Given the description of an element on the screen output the (x, y) to click on. 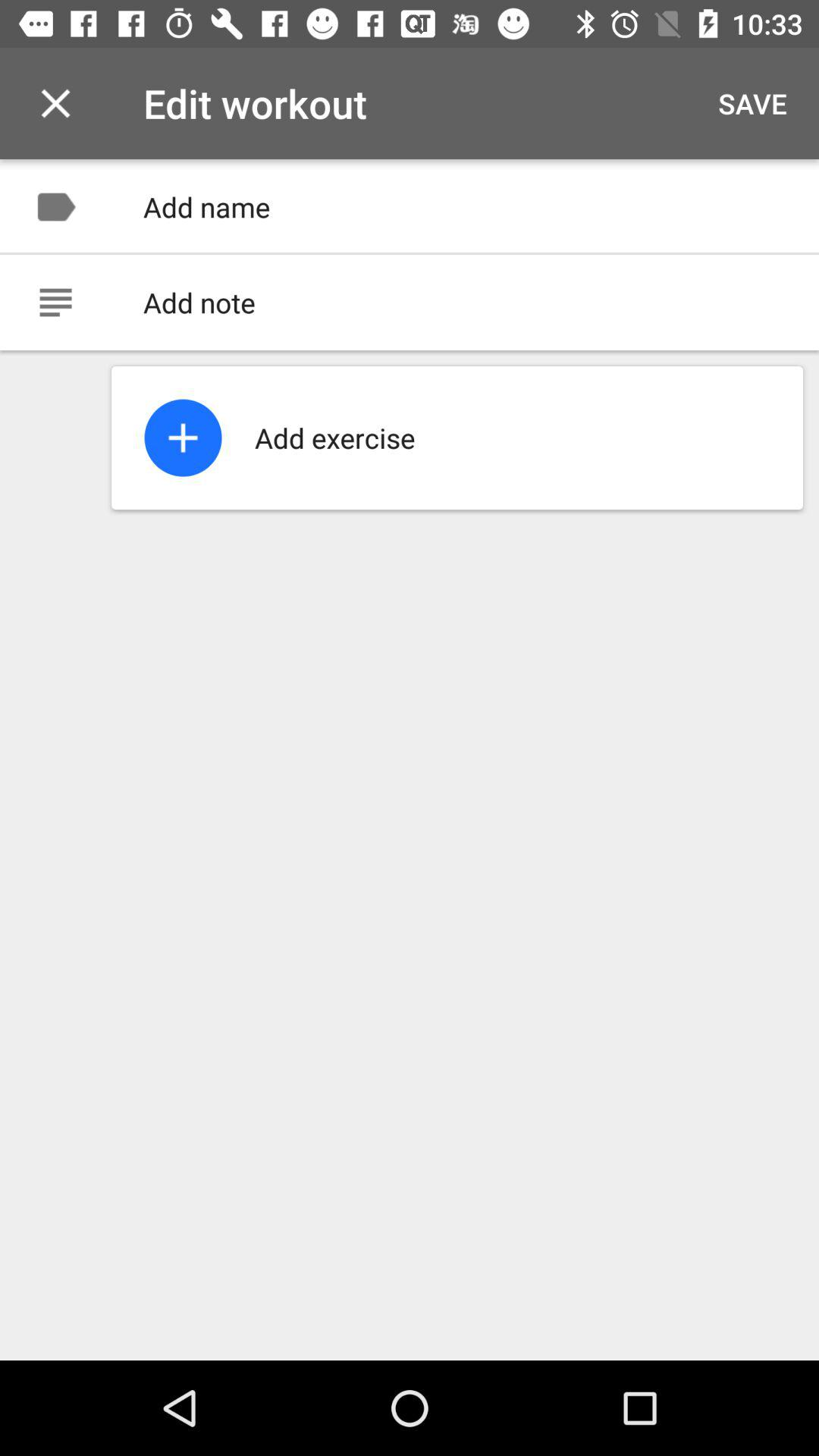
click the item to the right of edit workout item (752, 103)
